Given the description of an element on the screen output the (x, y) to click on. 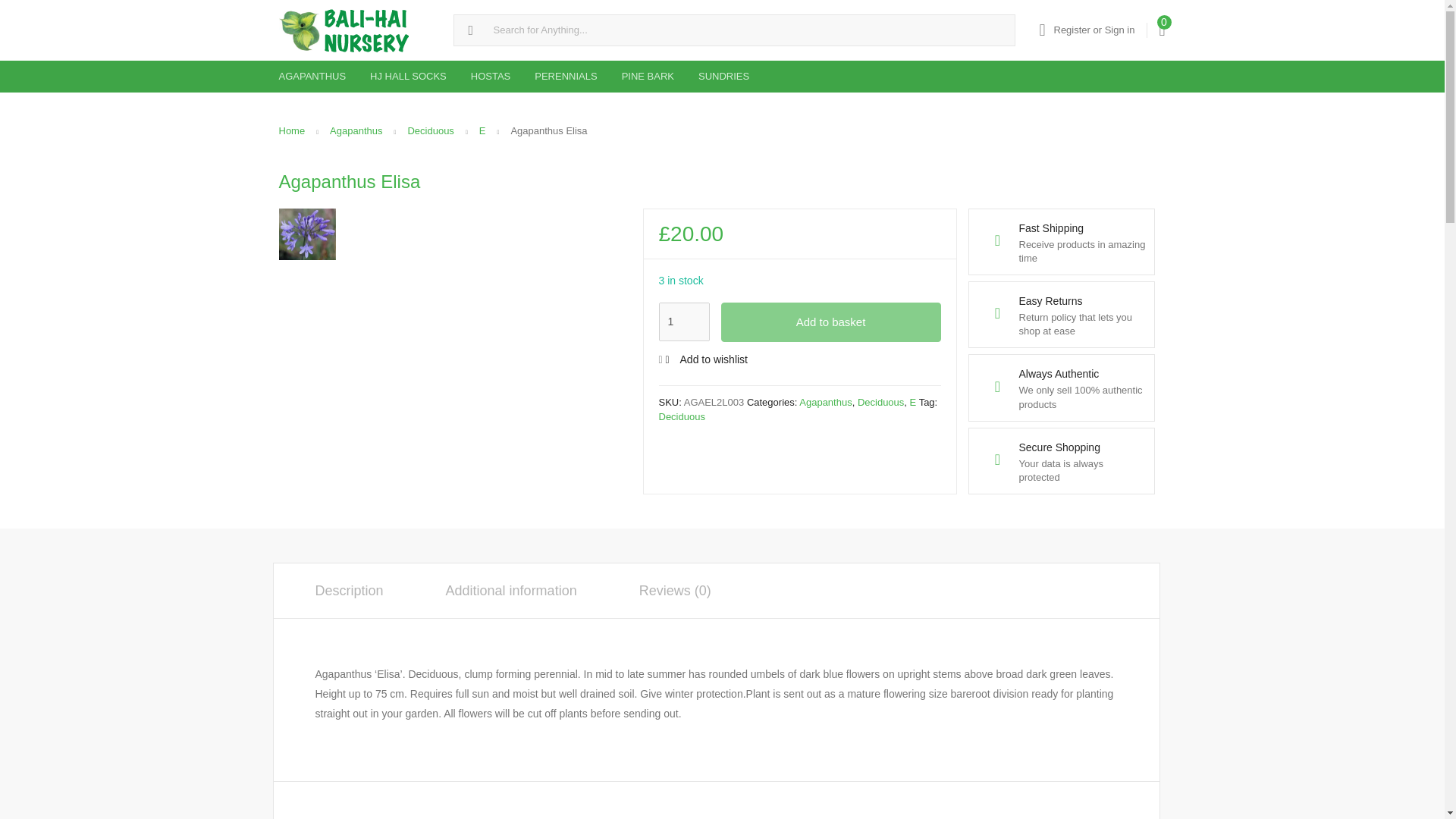
Register or Sign in (1086, 30)
Search (17, 12)
1 (683, 322)
AGAPANTHUS (312, 76)
Agapanthus Elisa (307, 234)
